Given the description of an element on the screen output the (x, y) to click on. 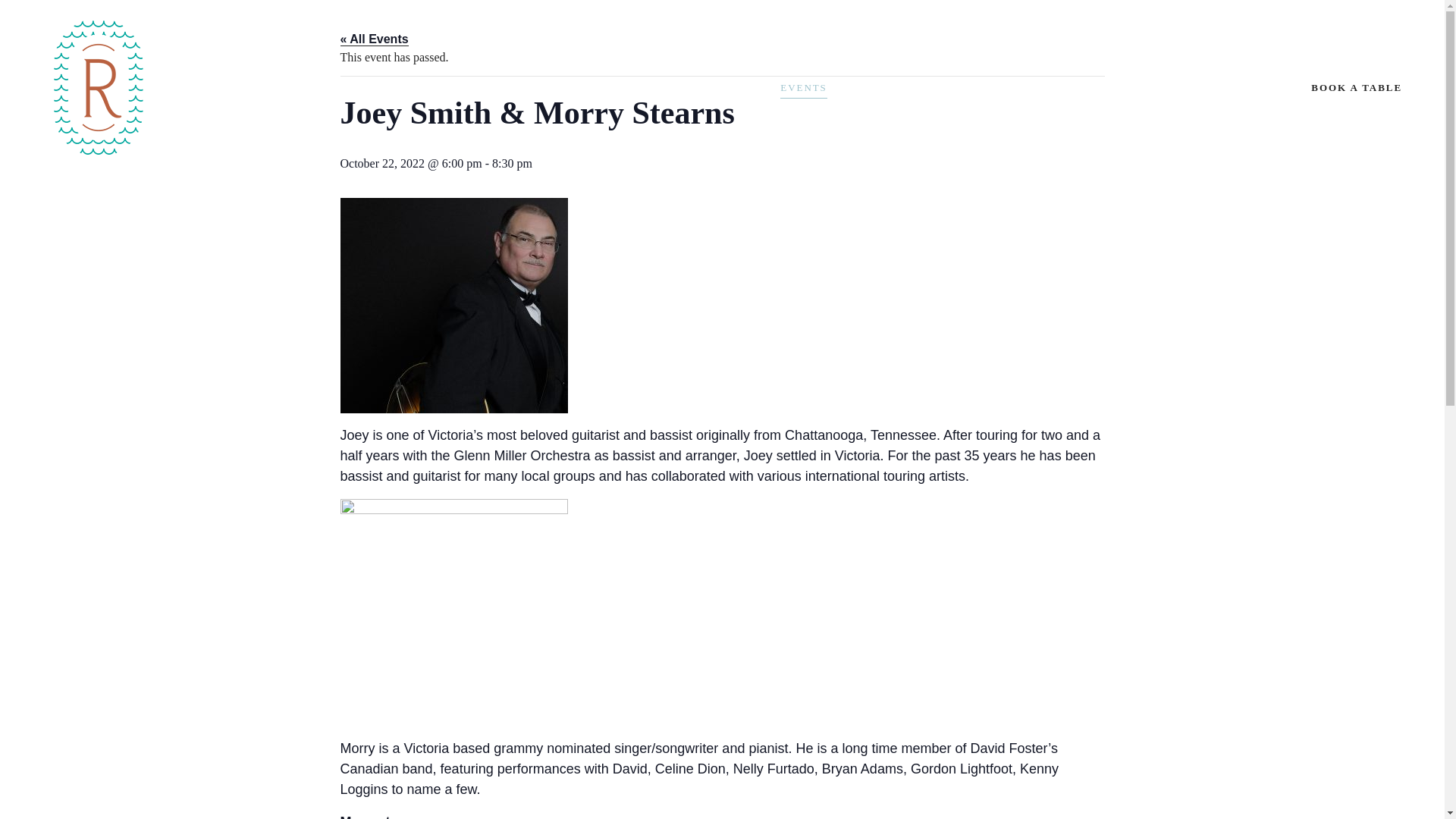
EVENTS (803, 87)
BOOK A TABLE (1356, 87)
RESERVATION (721, 87)
DELIVERY MENU (894, 87)
CONTACT (634, 87)
Morrystearns.com (398, 816)
